Given the description of an element on the screen output the (x, y) to click on. 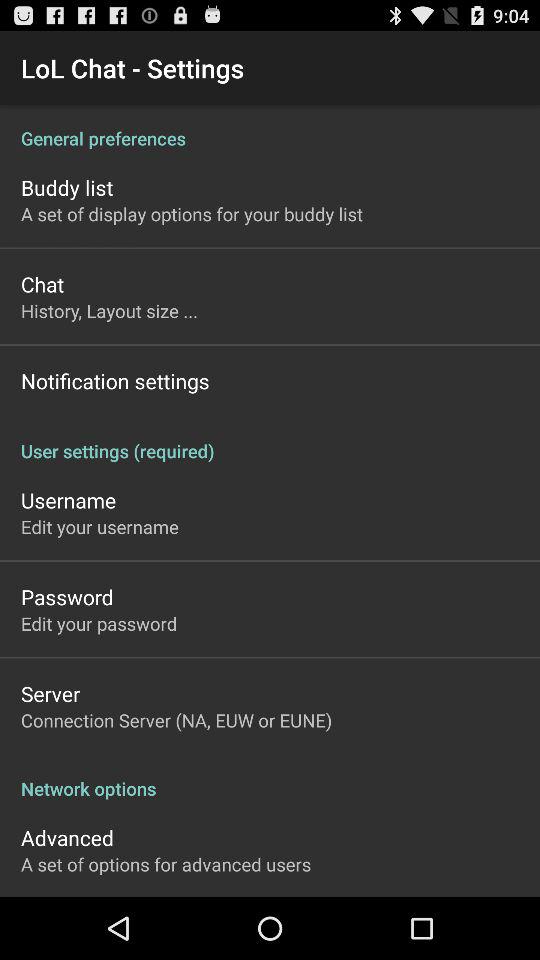
turn on item below the server icon (176, 720)
